Given the description of an element on the screen output the (x, y) to click on. 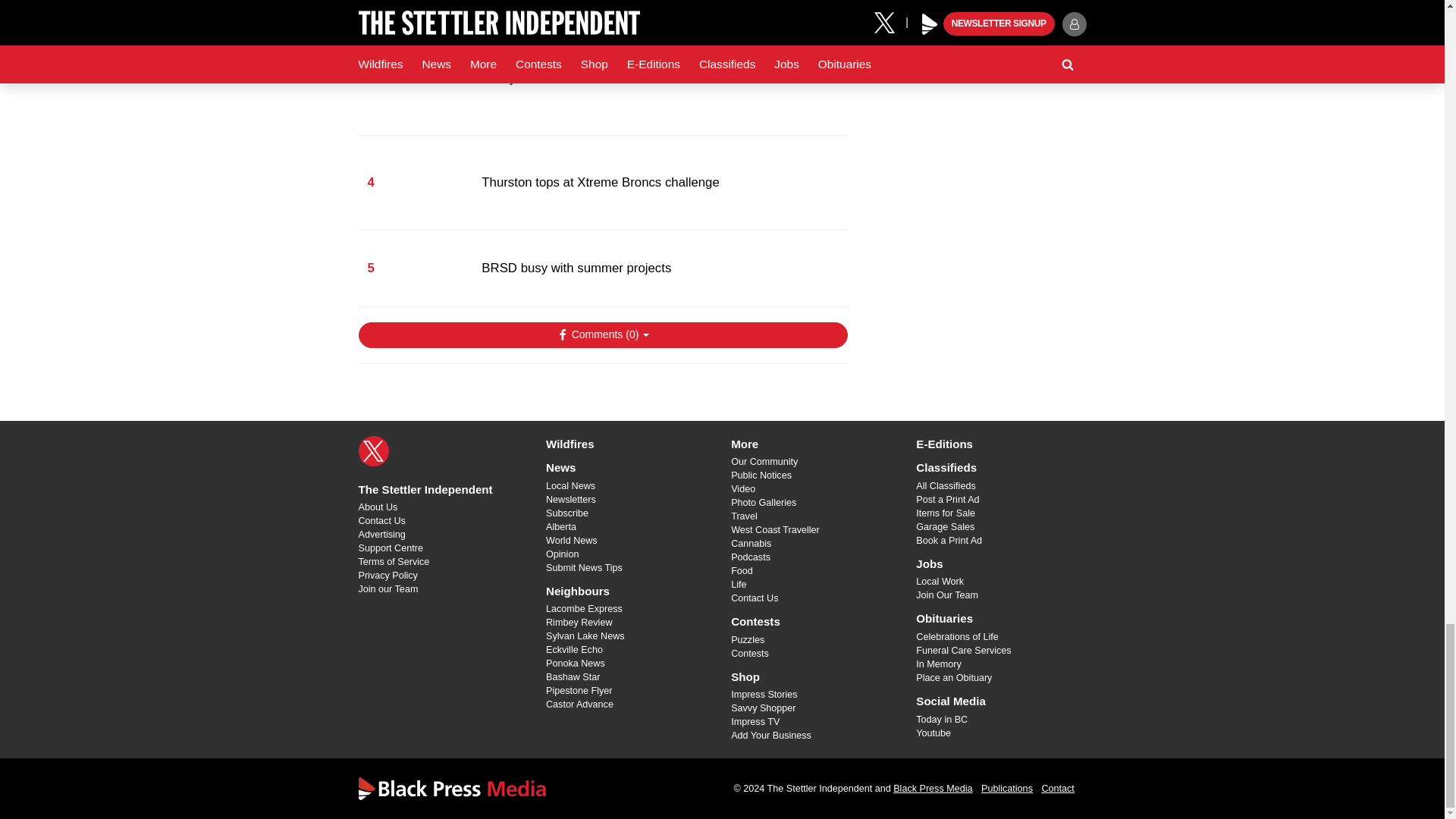
X (373, 450)
Show Comments (602, 335)
